Given the description of an element on the screen output the (x, y) to click on. 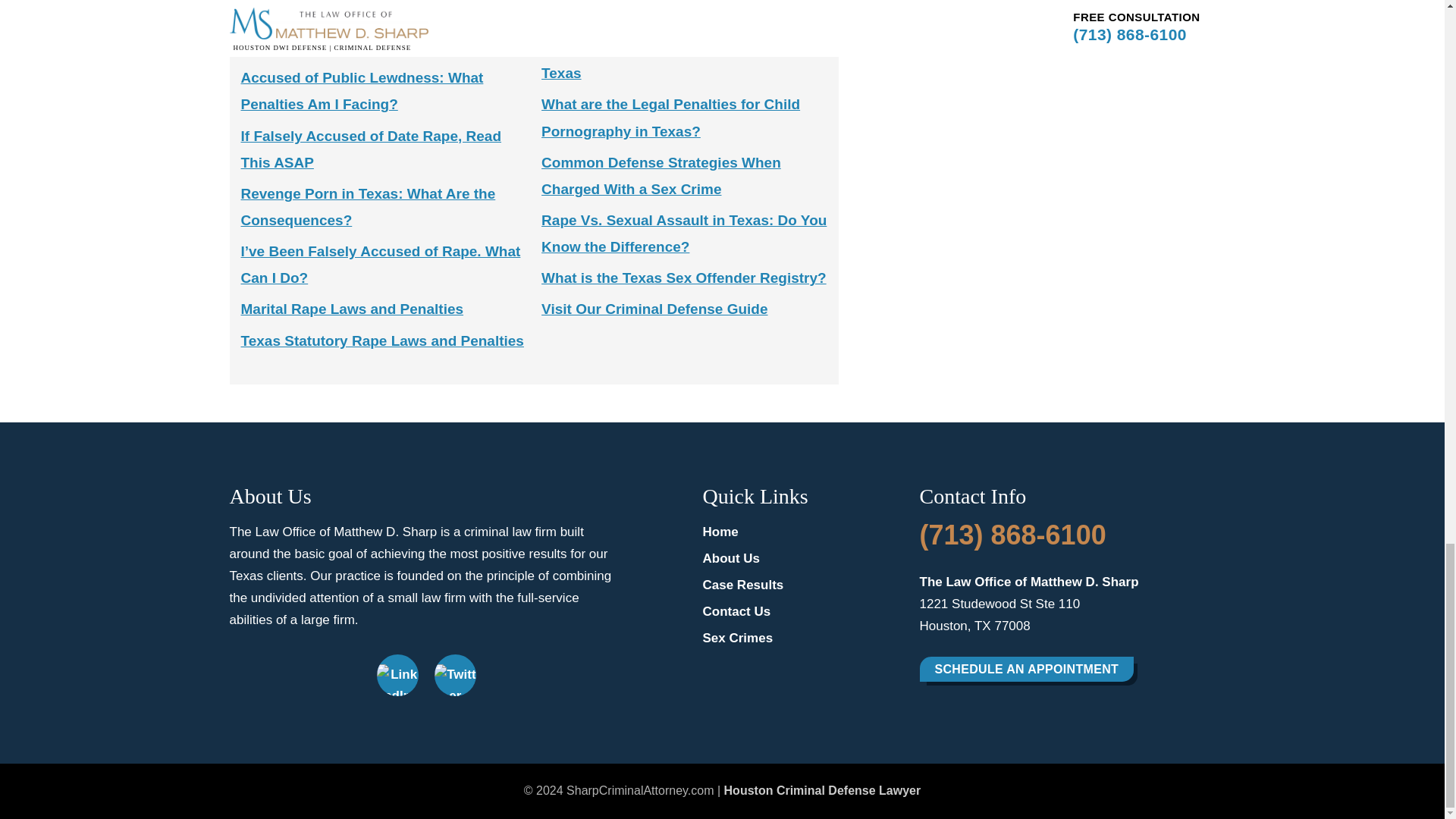
Sex Crimes: An Overview (327, 46)
Accused of Public Lewdness: What Penalties Am I Facing? (362, 90)
